Given the description of an element on the screen output the (x, y) to click on. 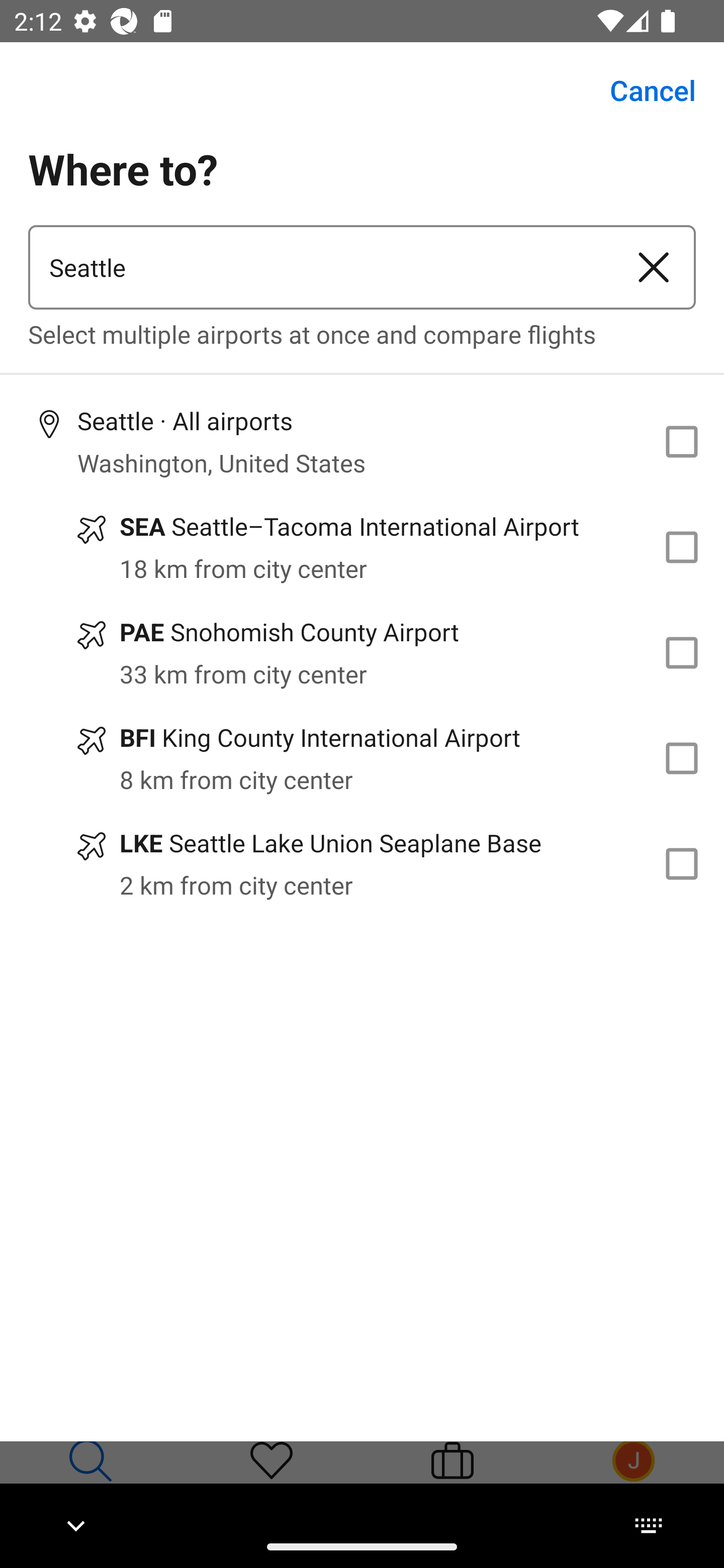
Cancel (641, 90)
Seattle (319, 266)
Clear airport or city (653, 266)
Seattle · All airports Washington, United States (362, 440)
